Given the description of an element on the screen output the (x, y) to click on. 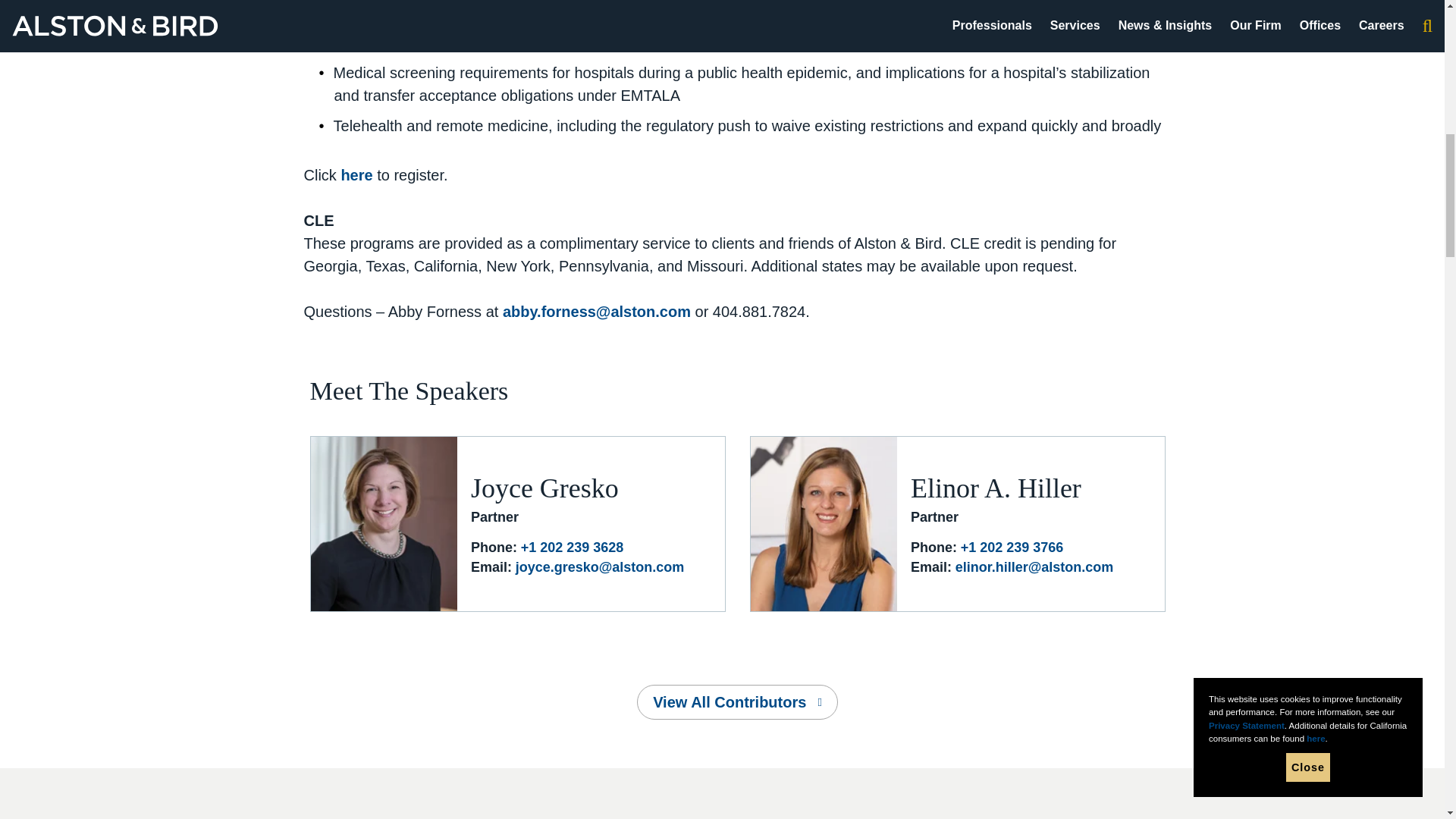
here (358, 175)
Joyce Gresko (544, 488)
Elinor A. Hiller (996, 488)
